Given the description of an element on the screen output the (x, y) to click on. 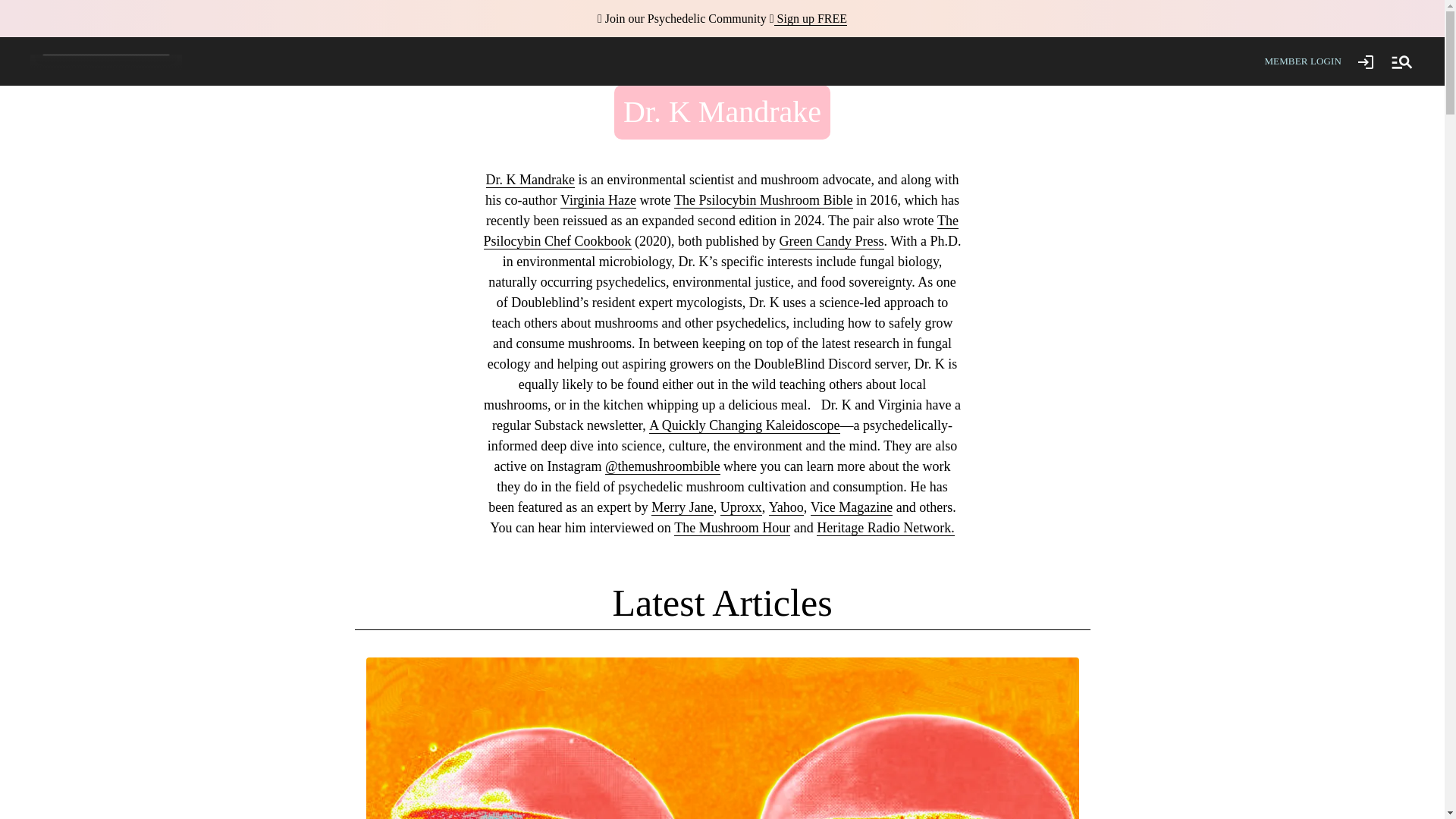
The Psilocybin Mushroom Bible (763, 200)
A Quickly Changing Kaleidoscope (744, 425)
Green Candy Press (830, 241)
The Mushroom Hour (732, 528)
Your browser does not support the video tag. (106, 61)
Dr. K Mandrake (530, 179)
Virginia Haze (598, 200)
MEMBER LOGIN (1301, 61)
Merry Jane (681, 507)
The Psilocybin Chef Cookbook (720, 230)
